Given the description of an element on the screen output the (x, y) to click on. 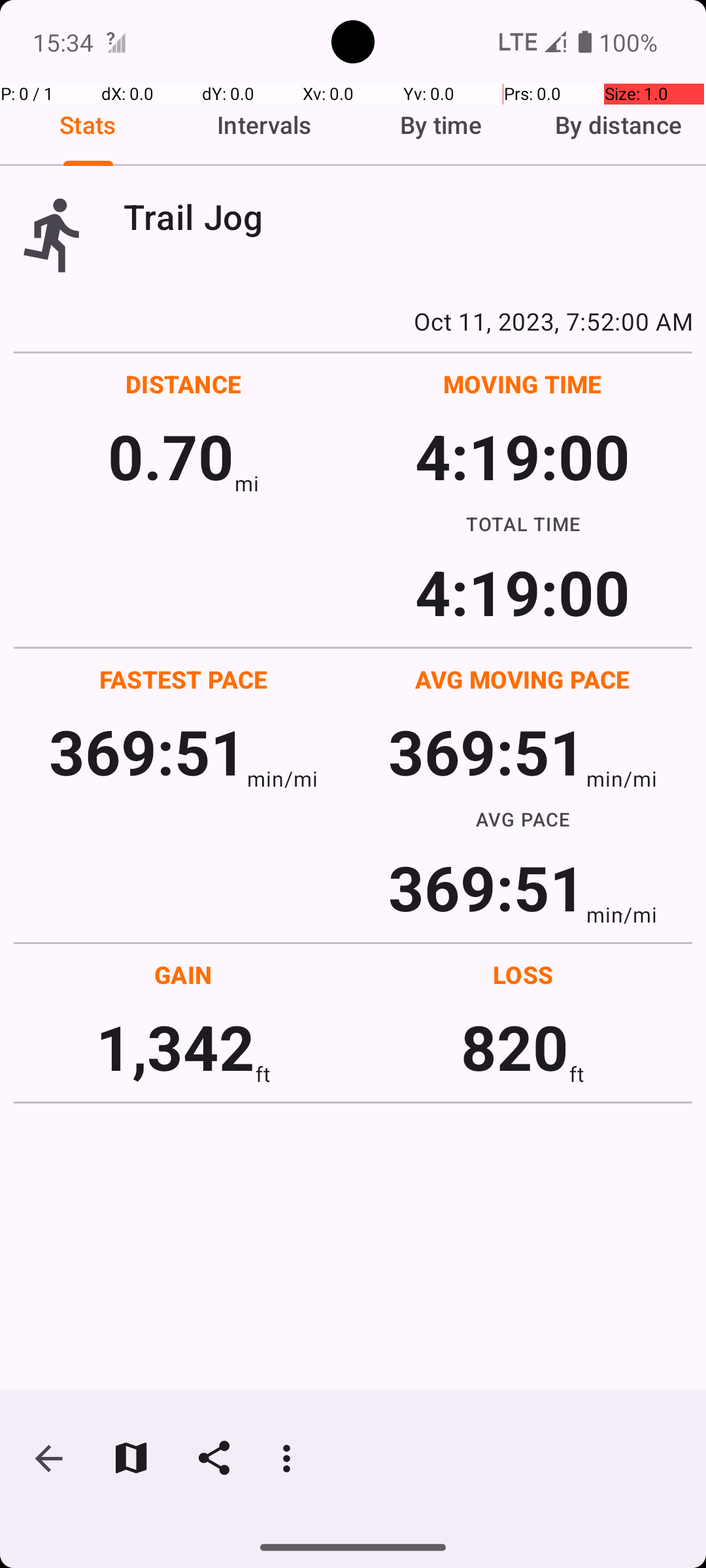
Trail Jog Element type: android.widget.TextView (407, 216)
Oct 11, 2023, 7:52:00 AM Element type: android.widget.TextView (352, 320)
0.70 Element type: android.widget.TextView (170, 455)
4:19:00 Element type: android.widget.TextView (522, 455)
FASTEST PACE Element type: android.widget.TextView (183, 678)
AVG MOVING PACE Element type: android.widget.TextView (522, 678)
369:51 Element type: android.widget.TextView (147, 750)
min/mi Element type: android.widget.TextView (282, 778)
AVG PACE Element type: android.widget.TextView (522, 818)
1,342 Element type: android.widget.TextView (175, 1045)
820 Element type: android.widget.TextView (514, 1045)
